Given the description of an element on the screen output the (x, y) to click on. 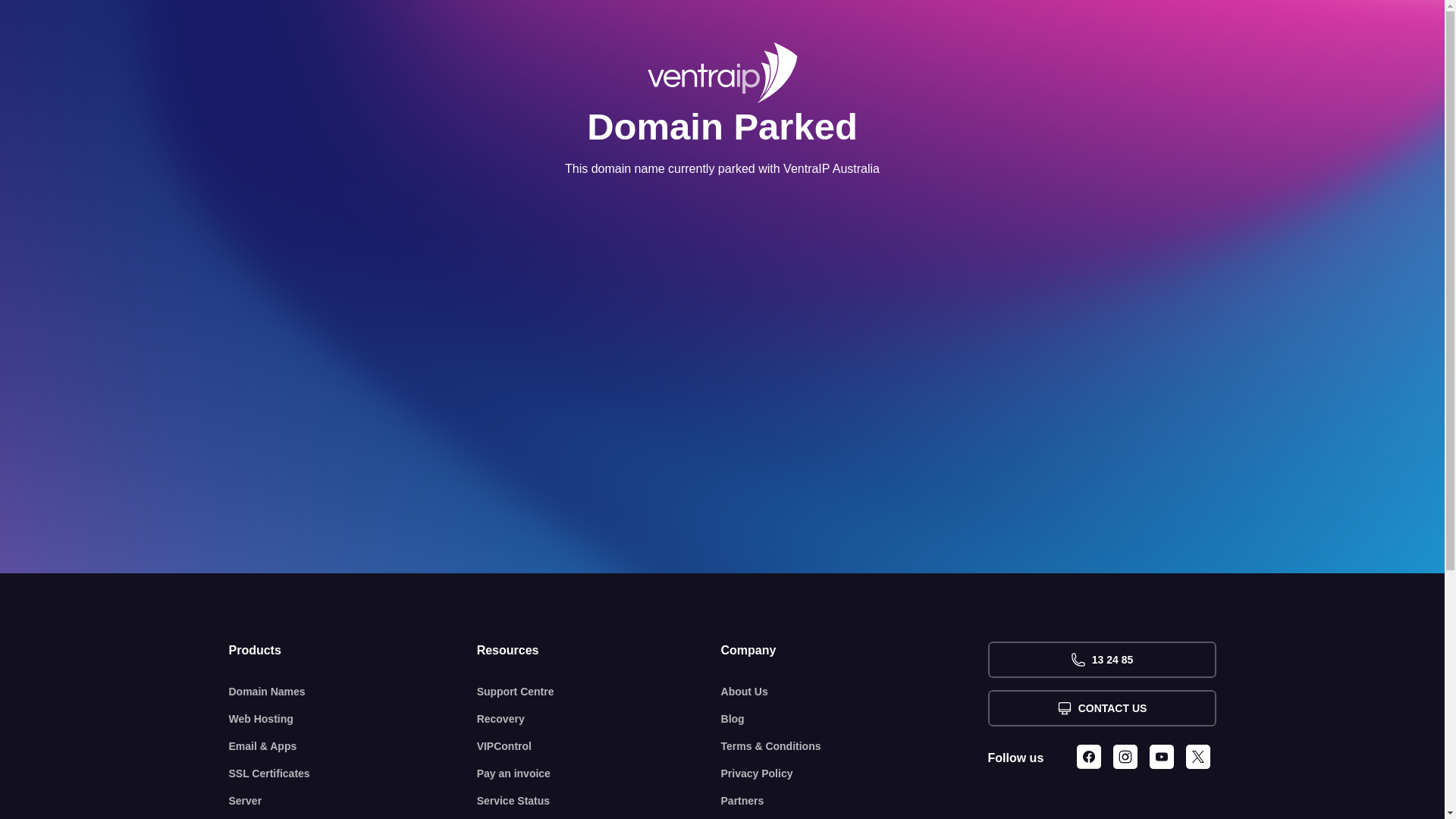
Service Status Element type: text (598, 800)
Domain Names Element type: text (352, 691)
SSL Certificates Element type: text (352, 773)
Terms & Conditions Element type: text (854, 745)
Recovery Element type: text (598, 718)
Partners Element type: text (854, 800)
Blog Element type: text (854, 718)
Email & Apps Element type: text (352, 745)
Privacy Policy Element type: text (854, 773)
About Us Element type: text (854, 691)
CONTACT US Element type: text (1101, 708)
VIPControl Element type: text (598, 745)
Support Centre Element type: text (598, 691)
Pay an invoice Element type: text (598, 773)
Web Hosting Element type: text (352, 718)
Server Element type: text (352, 800)
13 24 85 Element type: text (1101, 659)
